Given the description of an element on the screen output the (x, y) to click on. 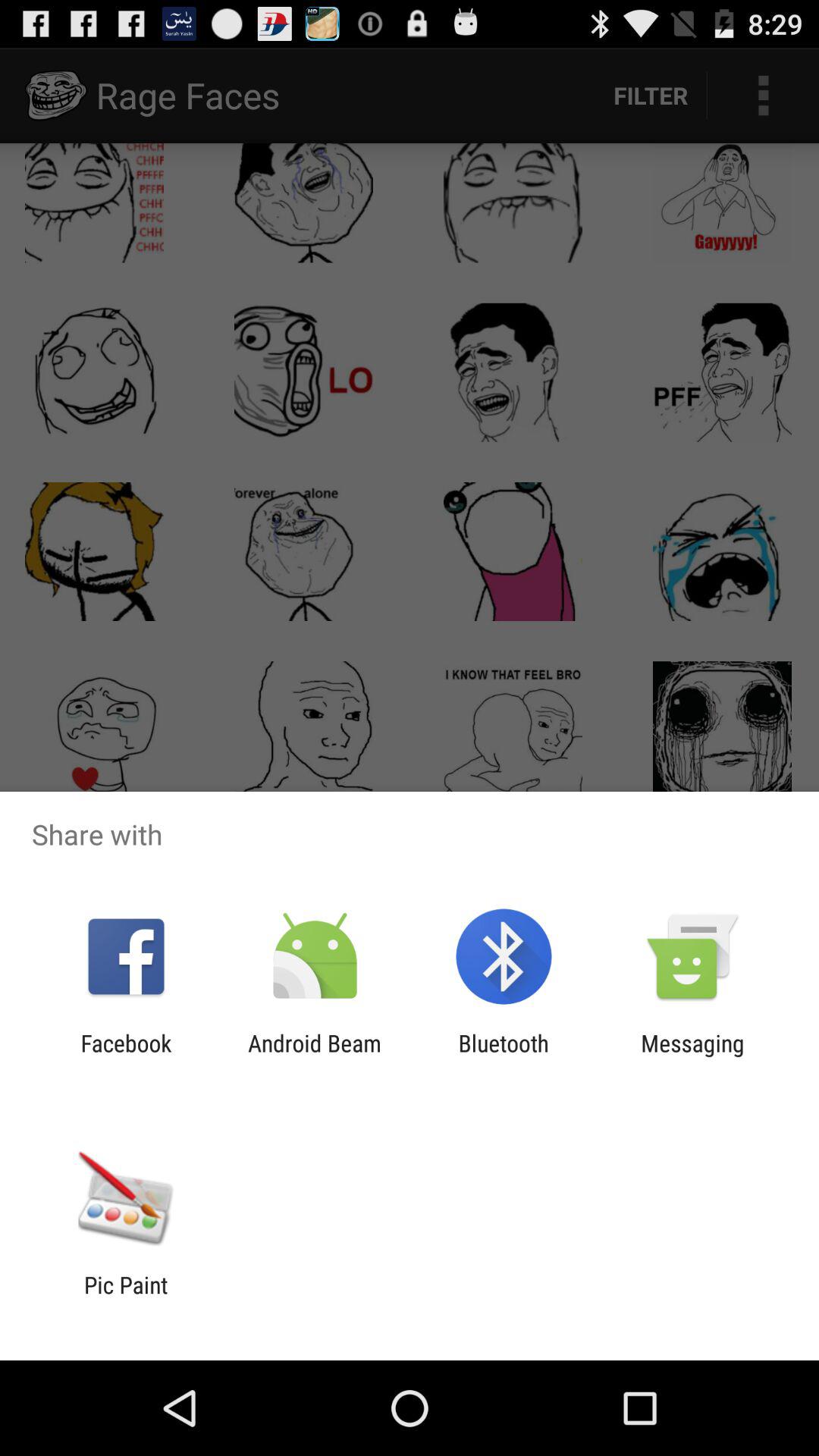
turn off icon to the right of the facebook item (314, 1056)
